Given the description of an element on the screen output the (x, y) to click on. 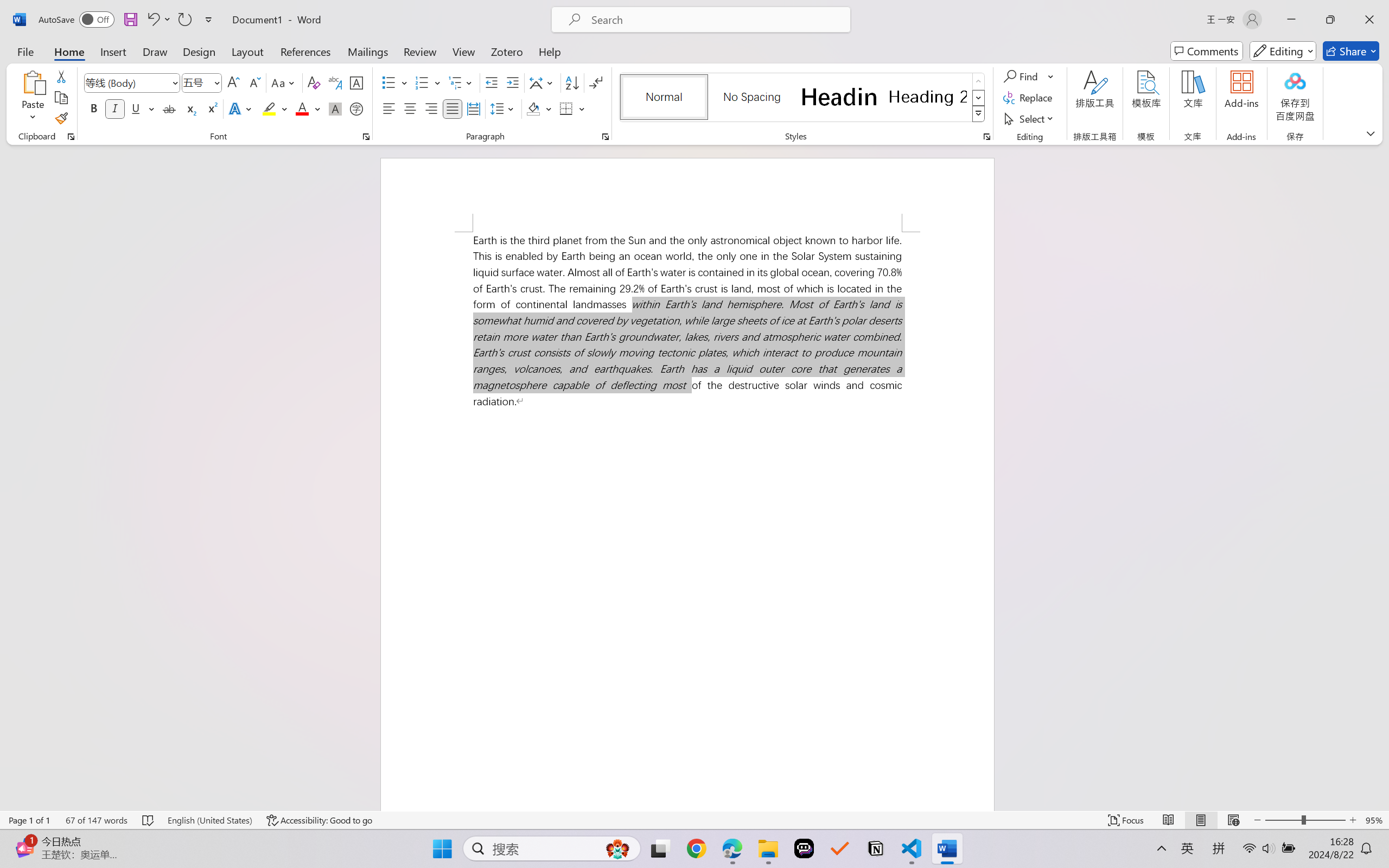
TextBox 61 (727, 452)
Record button in top bar (1263, 632)
Accessibility Checker Accessibility: Investigate (215, 837)
Zoom (1315, 837)
Reset to Cameo (257, 62)
Help (405, 29)
Search (1285, 161)
Activate (459, 105)
Reading View (1245, 837)
Close pane (1375, 131)
play Record a Presentation (1257, 437)
